Given the description of an element on the screen output the (x, y) to click on. 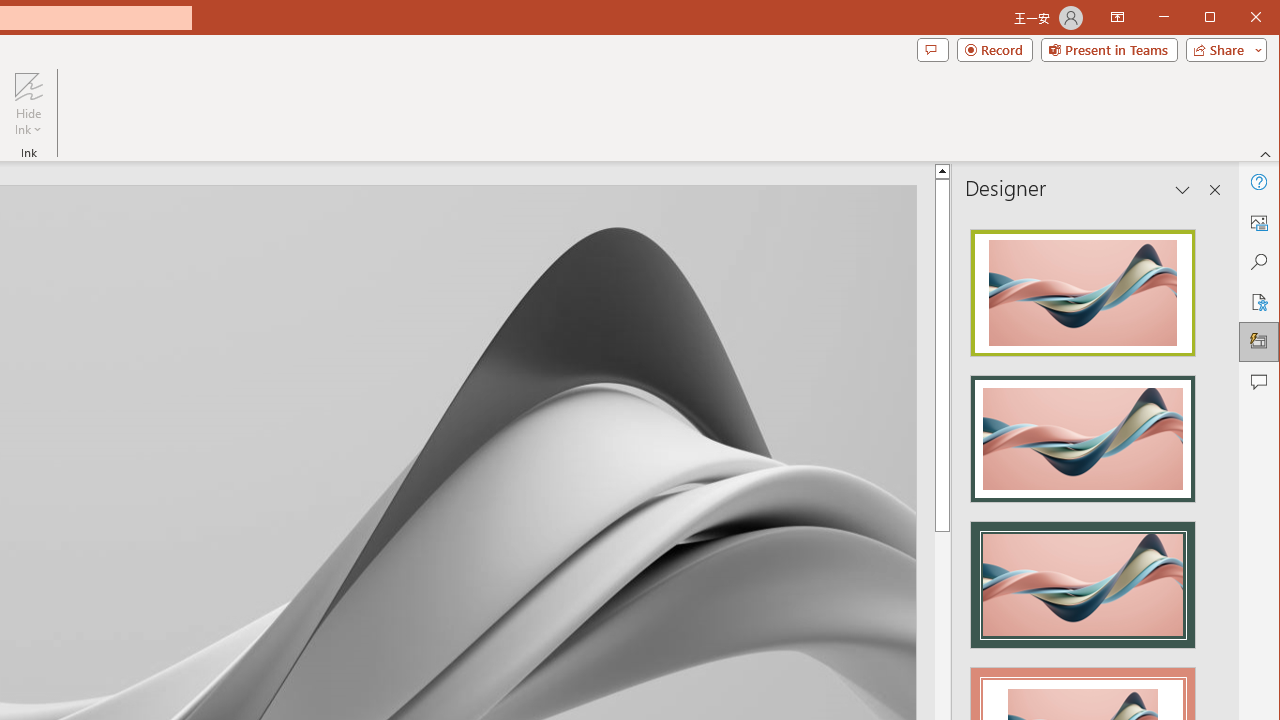
Recommended Design: Design Idea (1082, 286)
